Given the description of an element on the screen output the (x, y) to click on. 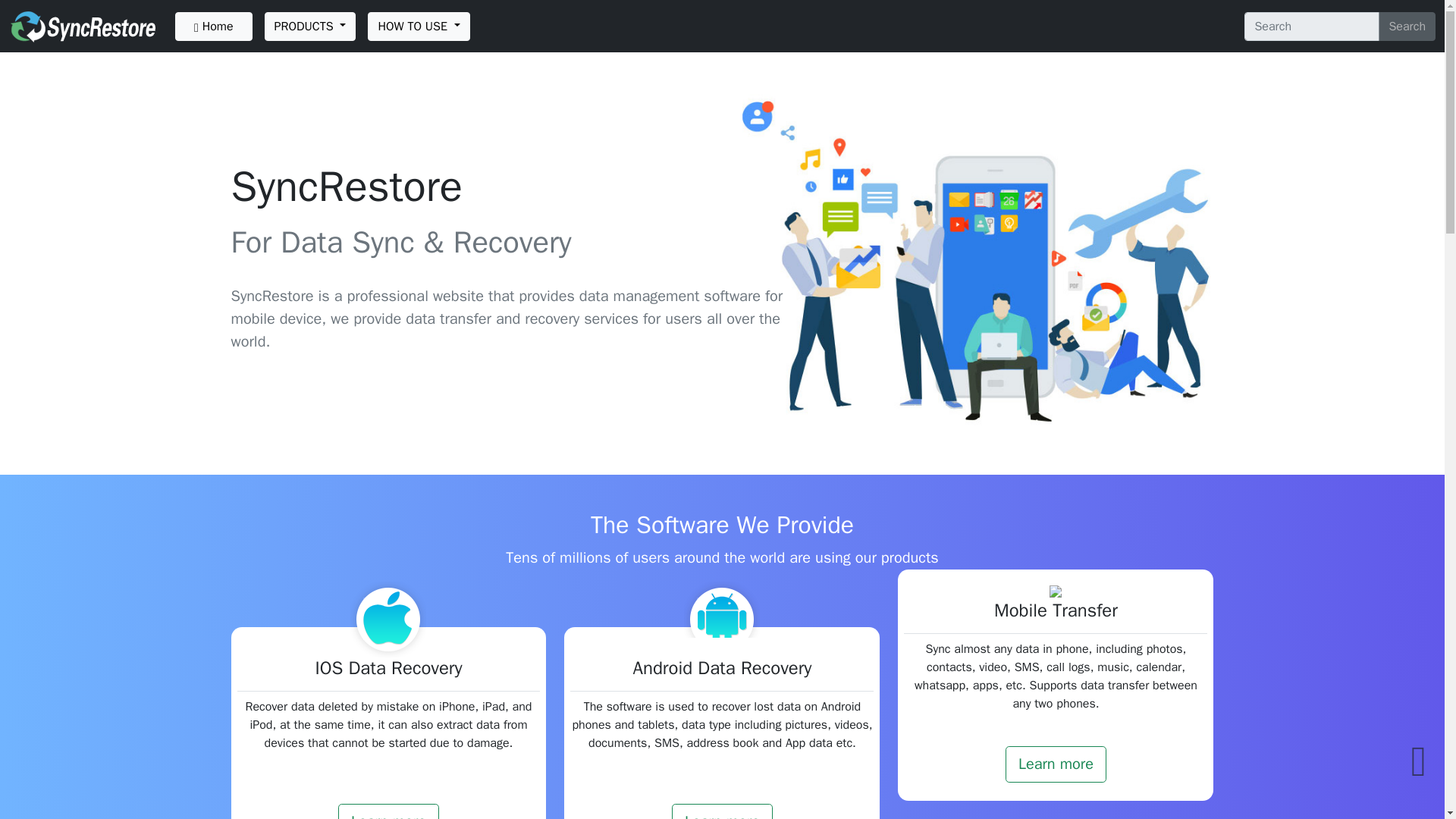
Learn more (388, 811)
Search (1406, 26)
HOW TO USE (418, 26)
PRODUCTS (310, 26)
Home (212, 26)
Learn more (1056, 764)
Learn more (722, 811)
